Given the description of an element on the screen output the (x, y) to click on. 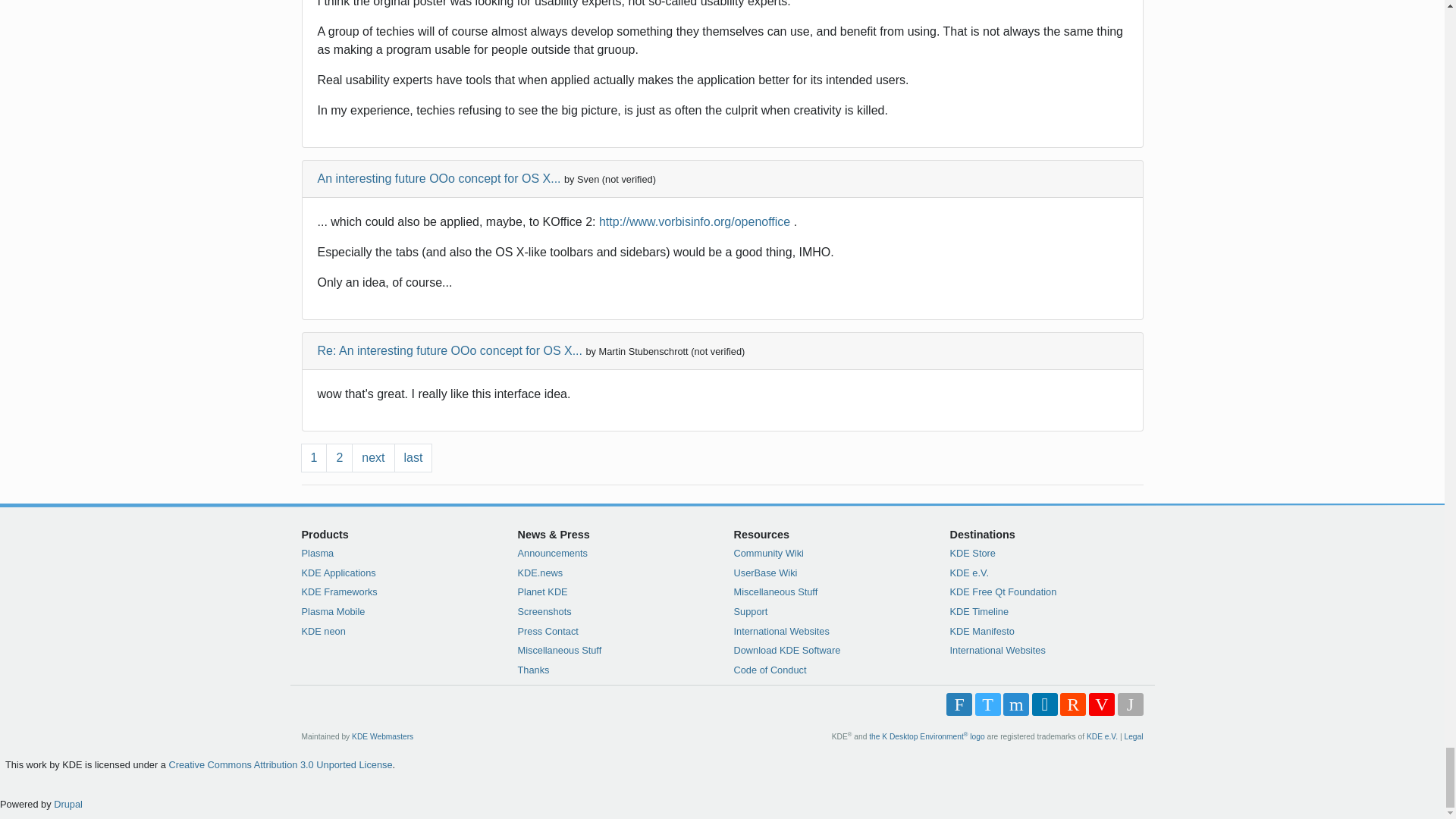
Go to page 2 (339, 457)
Homepage of the KDE non-profit Organization (1102, 736)
